Given the description of an element on the screen output the (x, y) to click on. 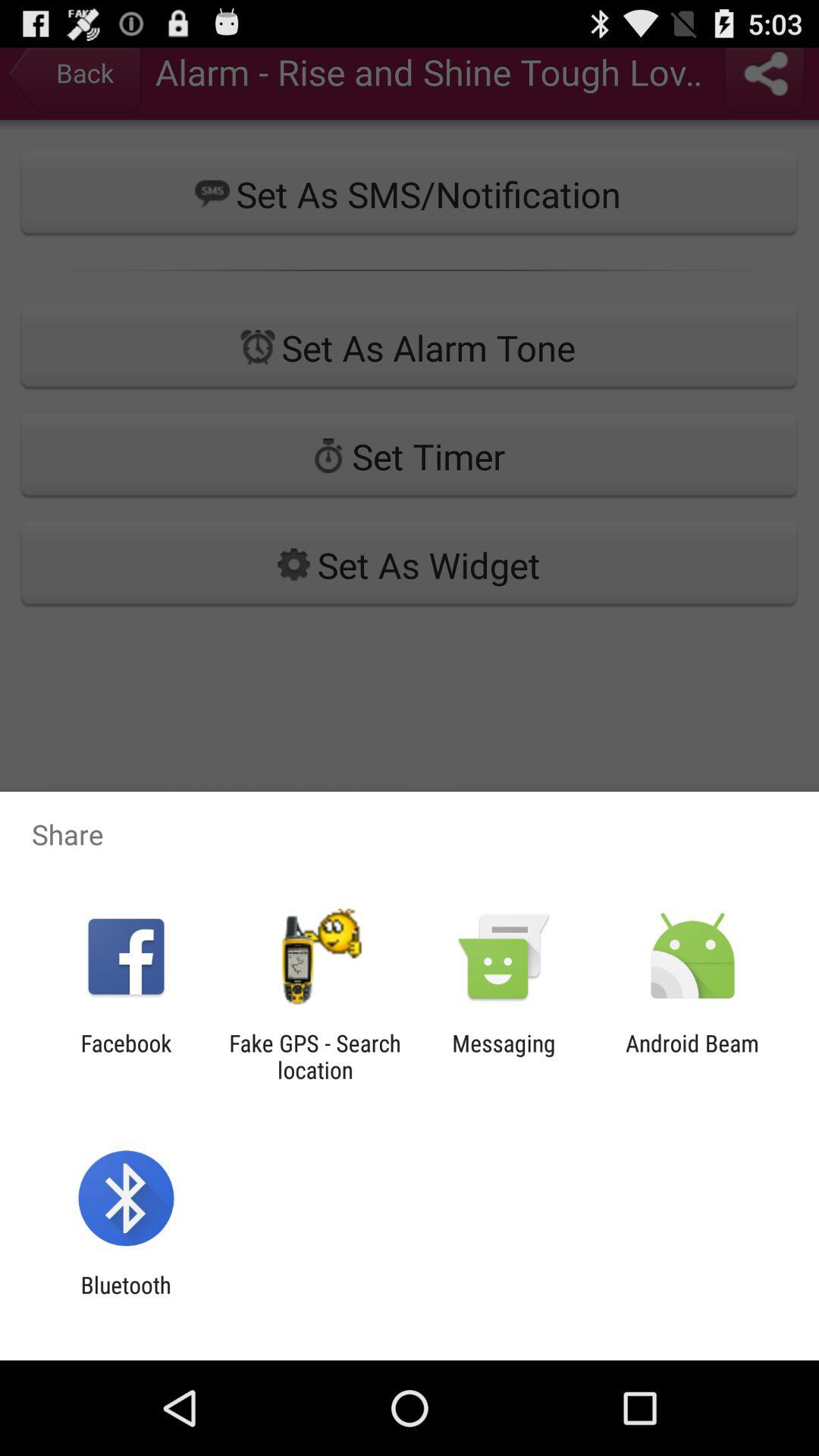
flip until android beam app (692, 1056)
